Given the description of an element on the screen output the (x, y) to click on. 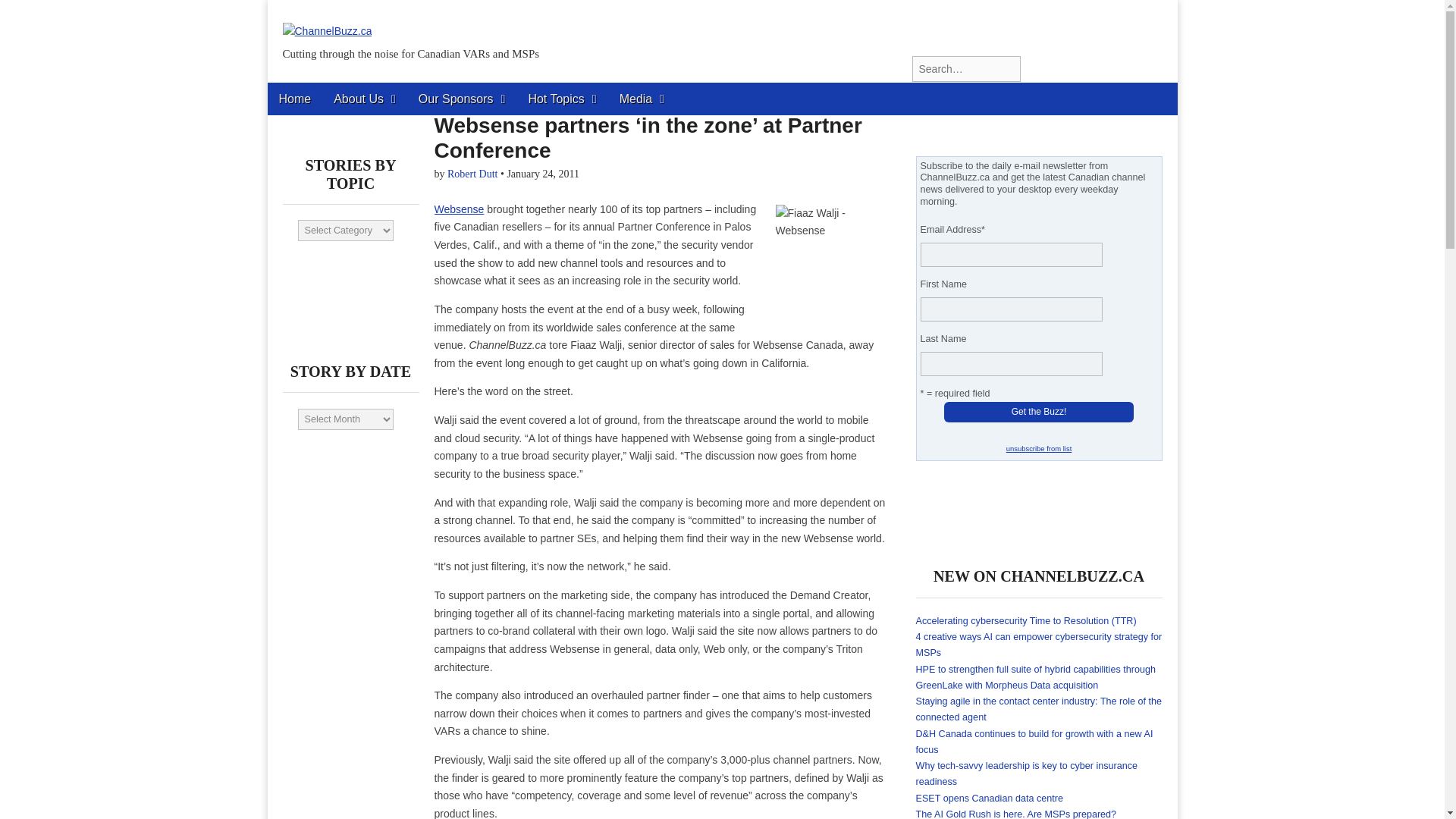
ChannelBuzz.ca (326, 20)
Home (293, 98)
Hot Topics (561, 98)
Websense (458, 209)
Media (641, 98)
ChannelBuzz.ca (400, 88)
Skip to content (306, 92)
About Us (364, 98)
ChannelBuzz.ca (400, 88)
Our Sponsors (461, 98)
